Given the description of an element on the screen output the (x, y) to click on. 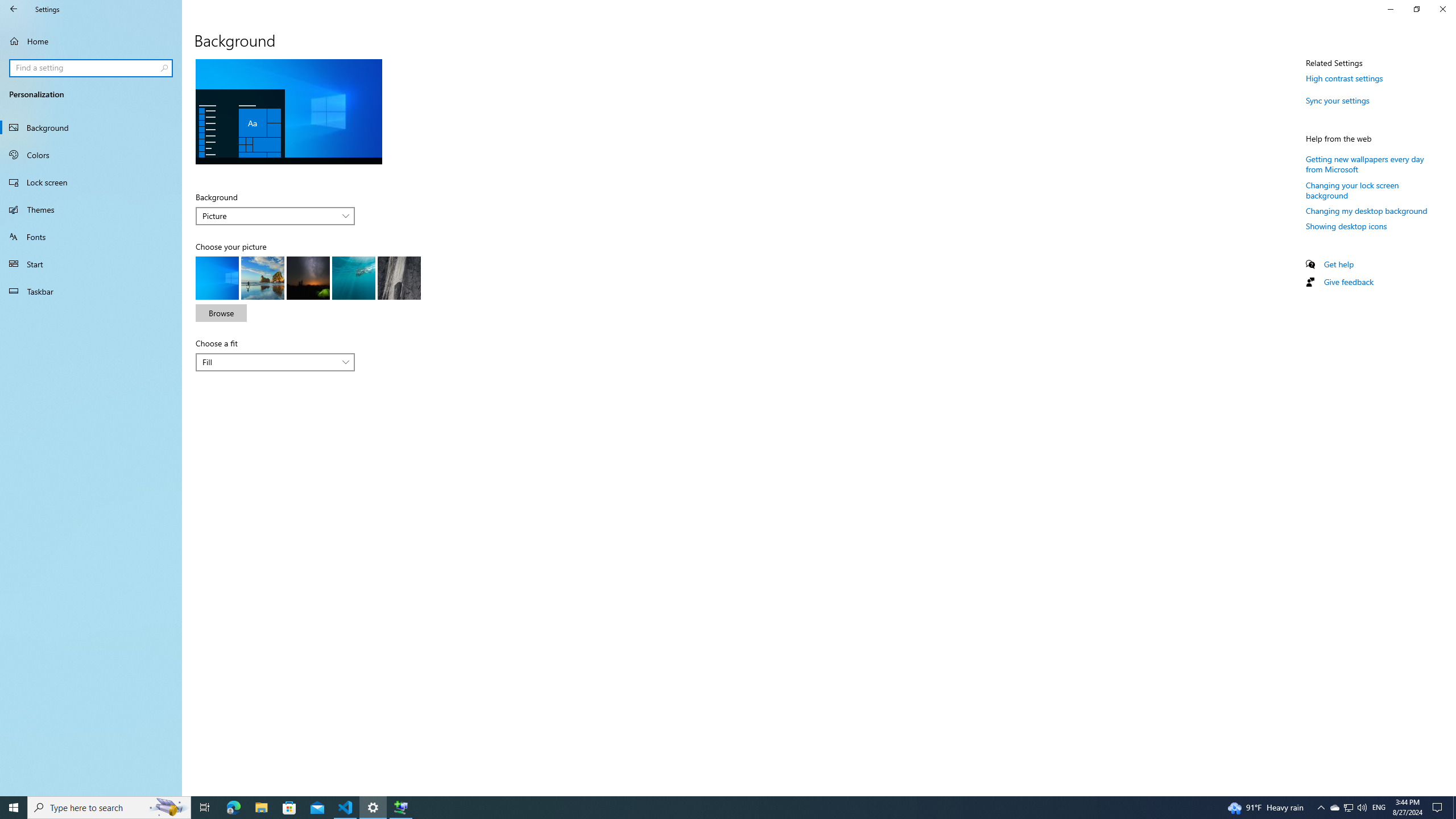
Background (91, 126)
Fonts (91, 236)
Windows Spotlight Image (398, 277)
Lock screen (91, 181)
